Given the description of an element on the screen output the (x, y) to click on. 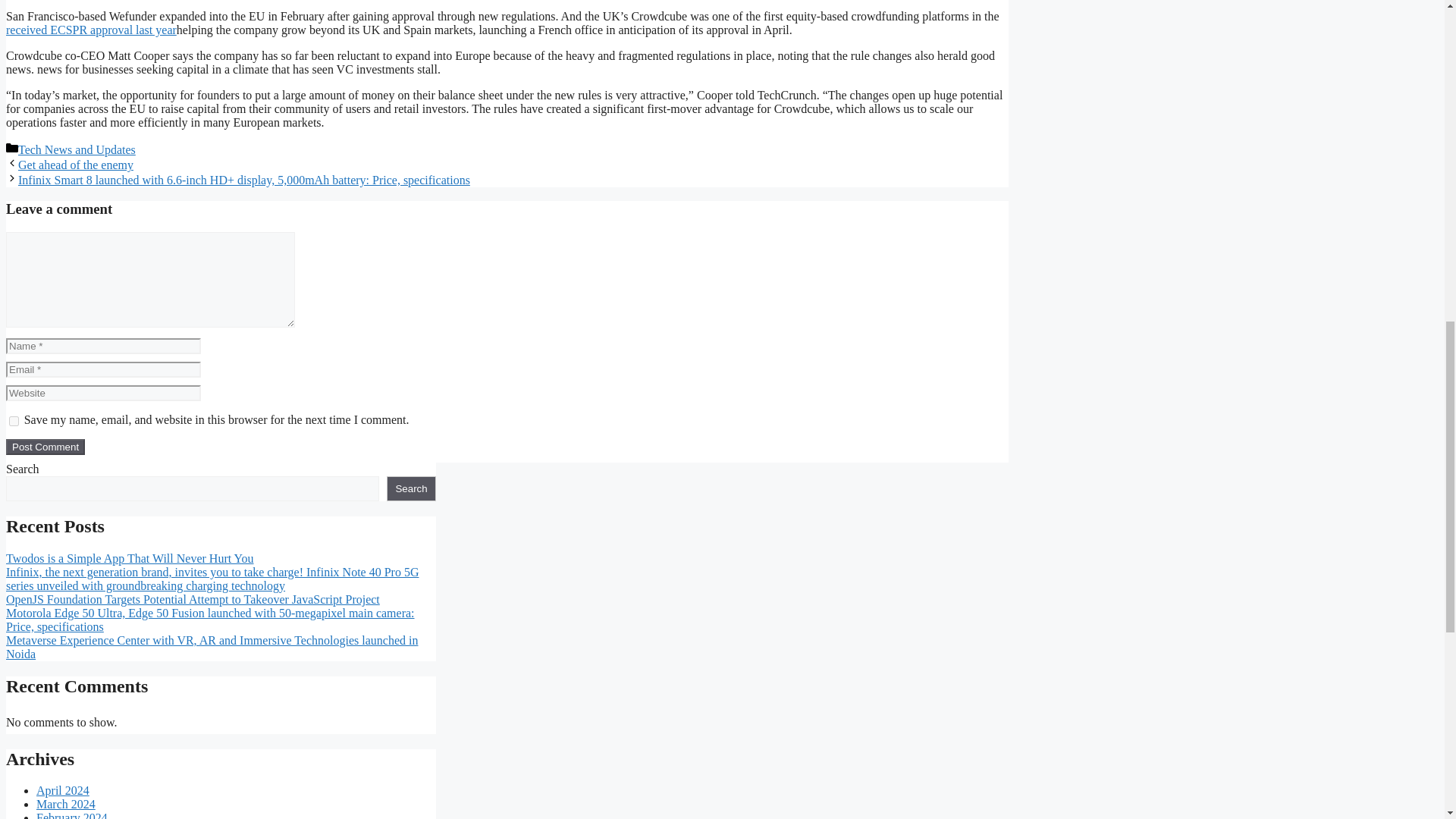
March 2024 (66, 803)
Twodos is a Simple App That Will Never Hurt You (129, 558)
Post Comment (44, 446)
Tech News and Updates (76, 149)
Post Comment (44, 446)
Scroll back to top (1406, 720)
Search (411, 488)
yes (13, 420)
April 2024 (62, 789)
February 2024 (71, 815)
received ECSPR approval last year (90, 29)
